Given the description of an element on the screen output the (x, y) to click on. 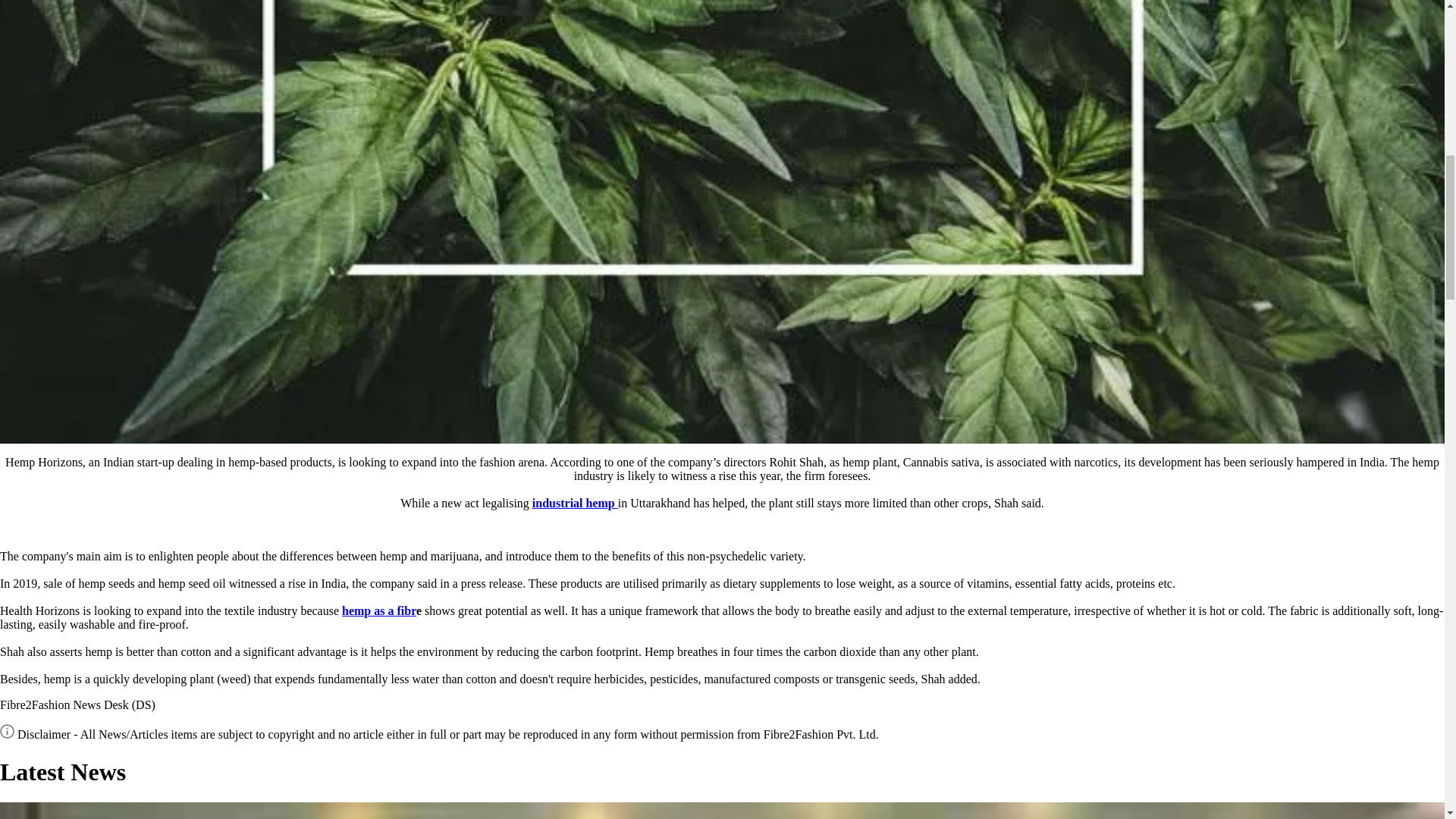
hemp as a fibr (379, 610)
industrial hemp (574, 502)
